Given the description of an element on the screen output the (x, y) to click on. 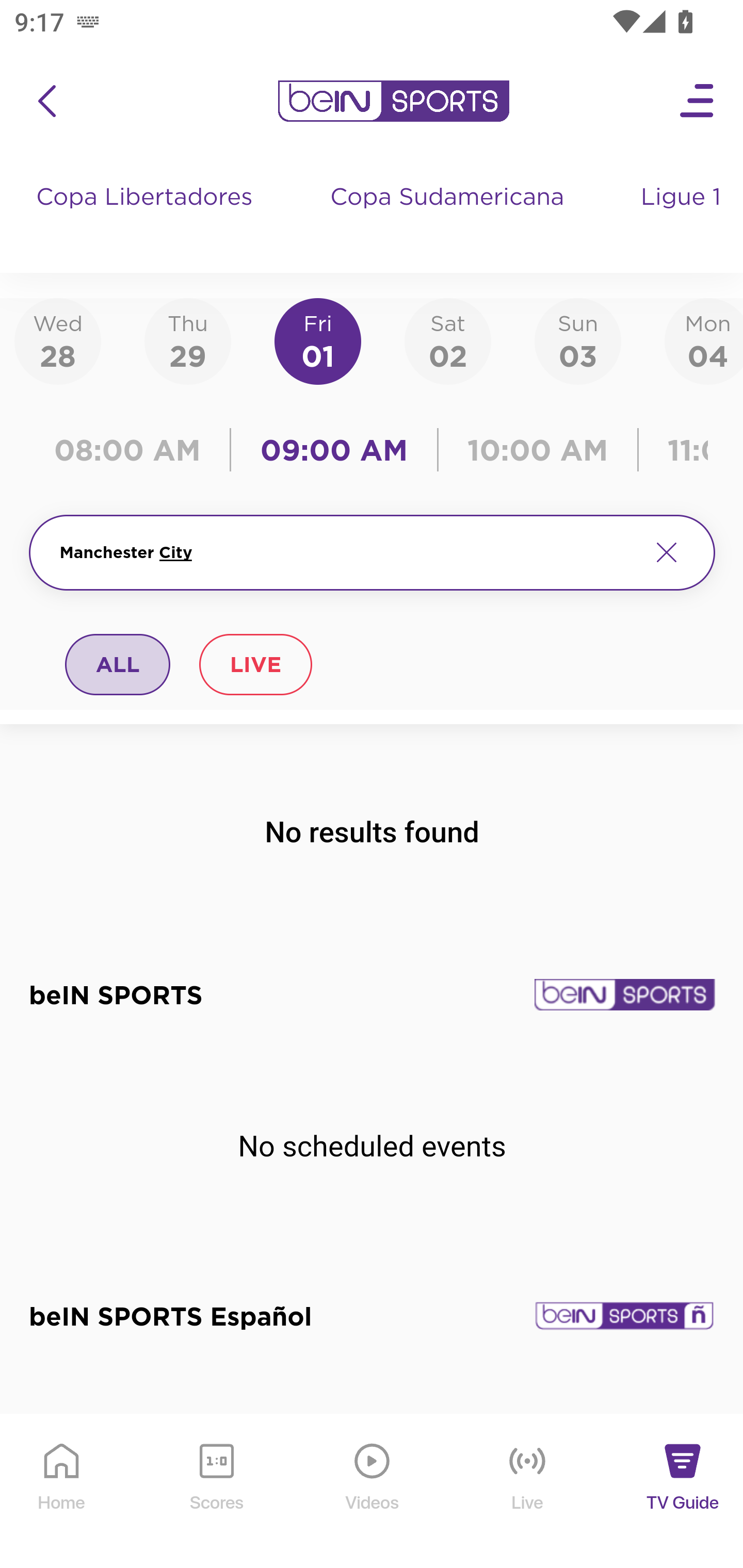
en-us?platform=mobile_android bein logo (392, 101)
icon back (46, 101)
Open Menu Icon (697, 101)
Copa Libertadores (146, 216)
Copa Sudamericana (448, 216)
Ligue 1 (682, 216)
Wed28 (58, 340)
Thu29 (187, 340)
Fri01 (318, 340)
Sat02 (447, 340)
Sun03 (578, 340)
Mon04 (703, 340)
08:00 AM (134, 449)
09:00 AM (334, 449)
10:00 AM (537, 449)
Manchester City (346, 552)
ALL (118, 663)
LIVE (255, 663)
Home Home Icon Home (61, 1491)
Scores Scores Icon Scores (216, 1491)
Videos Videos Icon Videos (372, 1491)
TV Guide TV Guide Icon TV Guide (682, 1491)
